Given the description of an element on the screen output the (x, y) to click on. 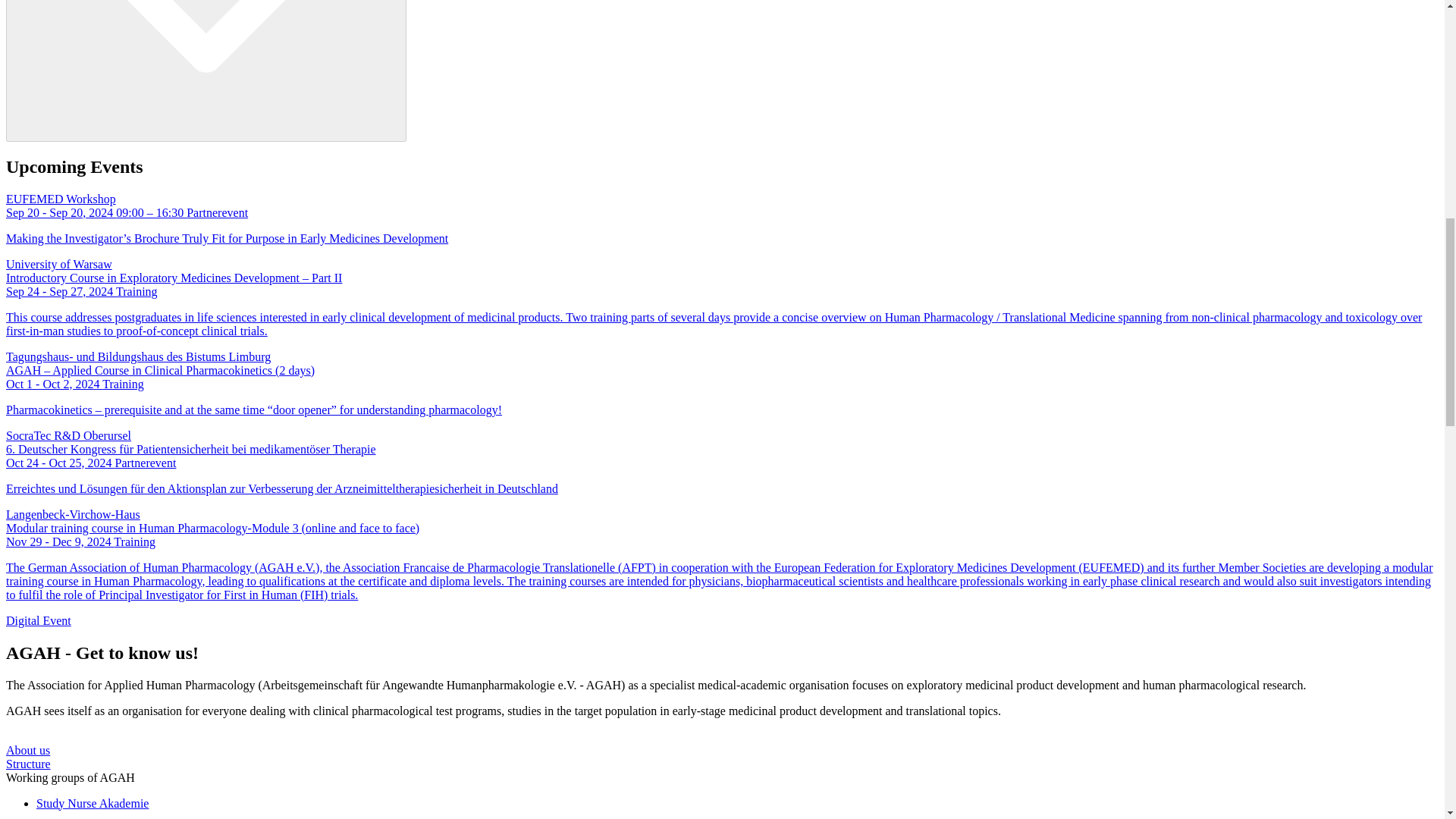
Study Nurse Akademie (92, 802)
Structure (27, 762)
About us (27, 748)
Structure (27, 762)
About us (27, 748)
